Given the description of an element on the screen output the (x, y) to click on. 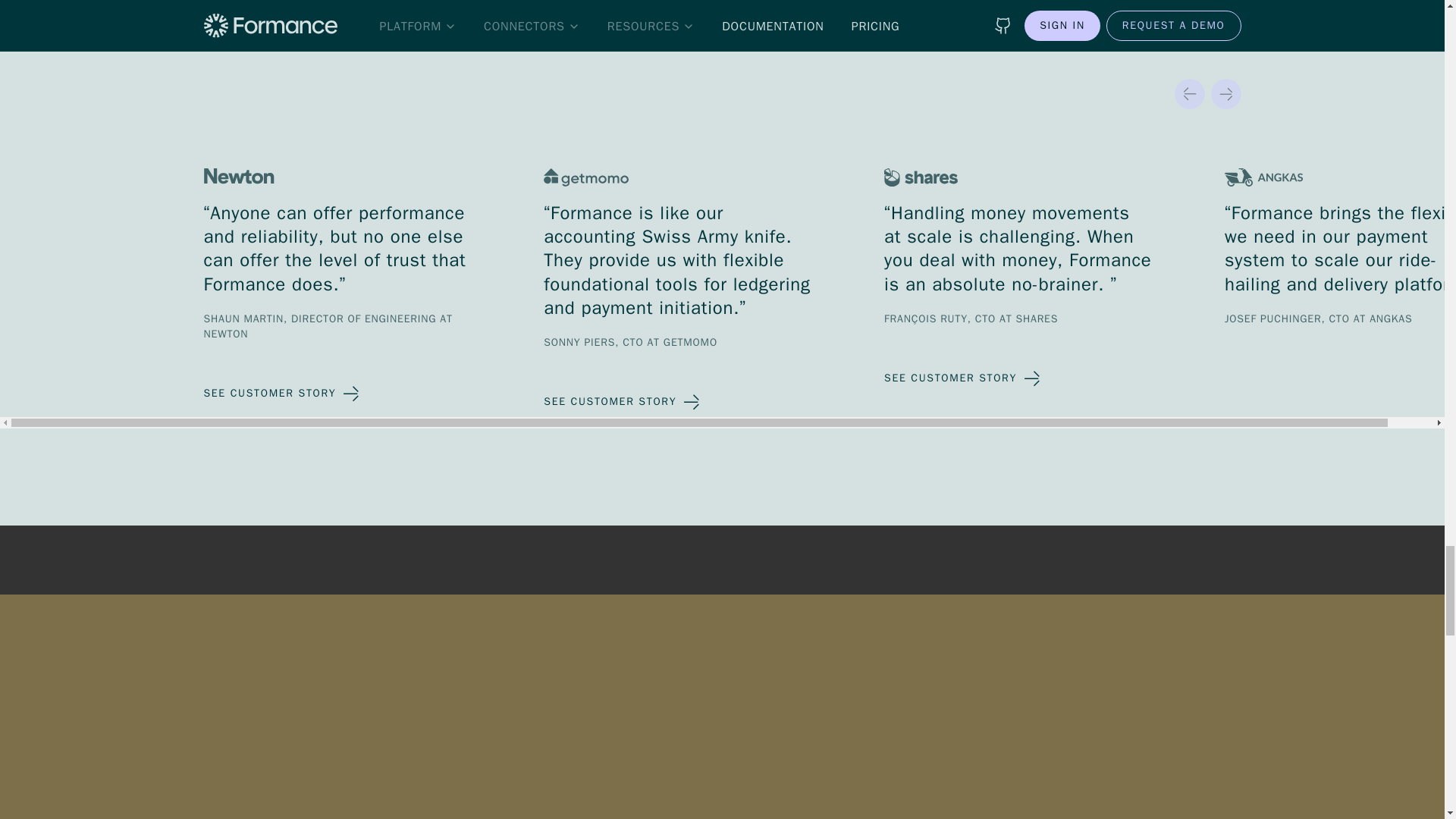
SEE CUSTOMER STORY (962, 378)
PREVIOUS SLIDE (1188, 93)
SEE CUSTOMER STORY (621, 401)
NEXT SLIDE (1224, 93)
SEE CUSTOMER STORY (281, 393)
